Given the description of an element on the screen output the (x, y) to click on. 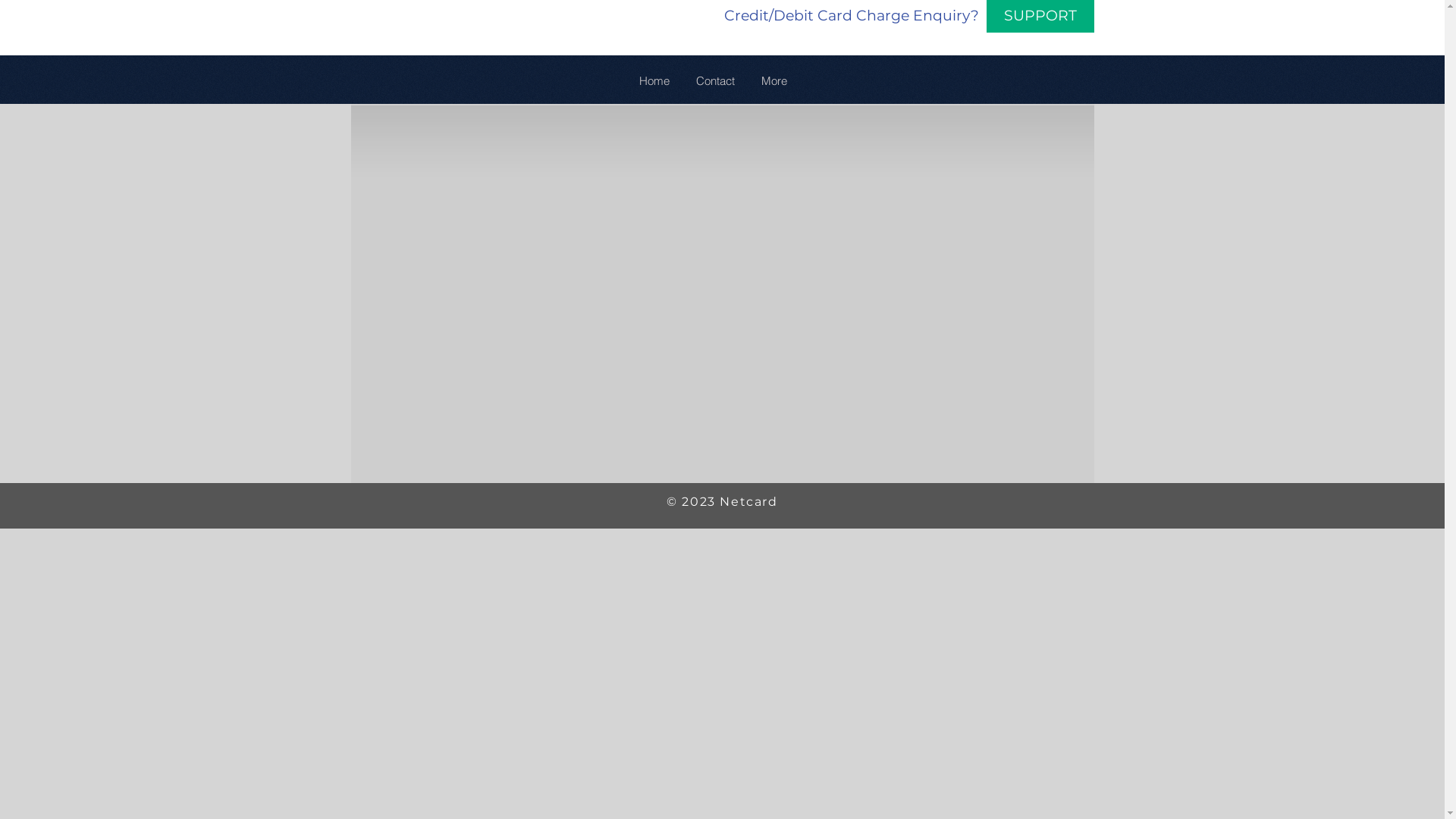
SUPPORT Element type: text (1039, 16)
Contact Element type: text (714, 80)
Home Element type: text (653, 80)
